Given the description of an element on the screen output the (x, y) to click on. 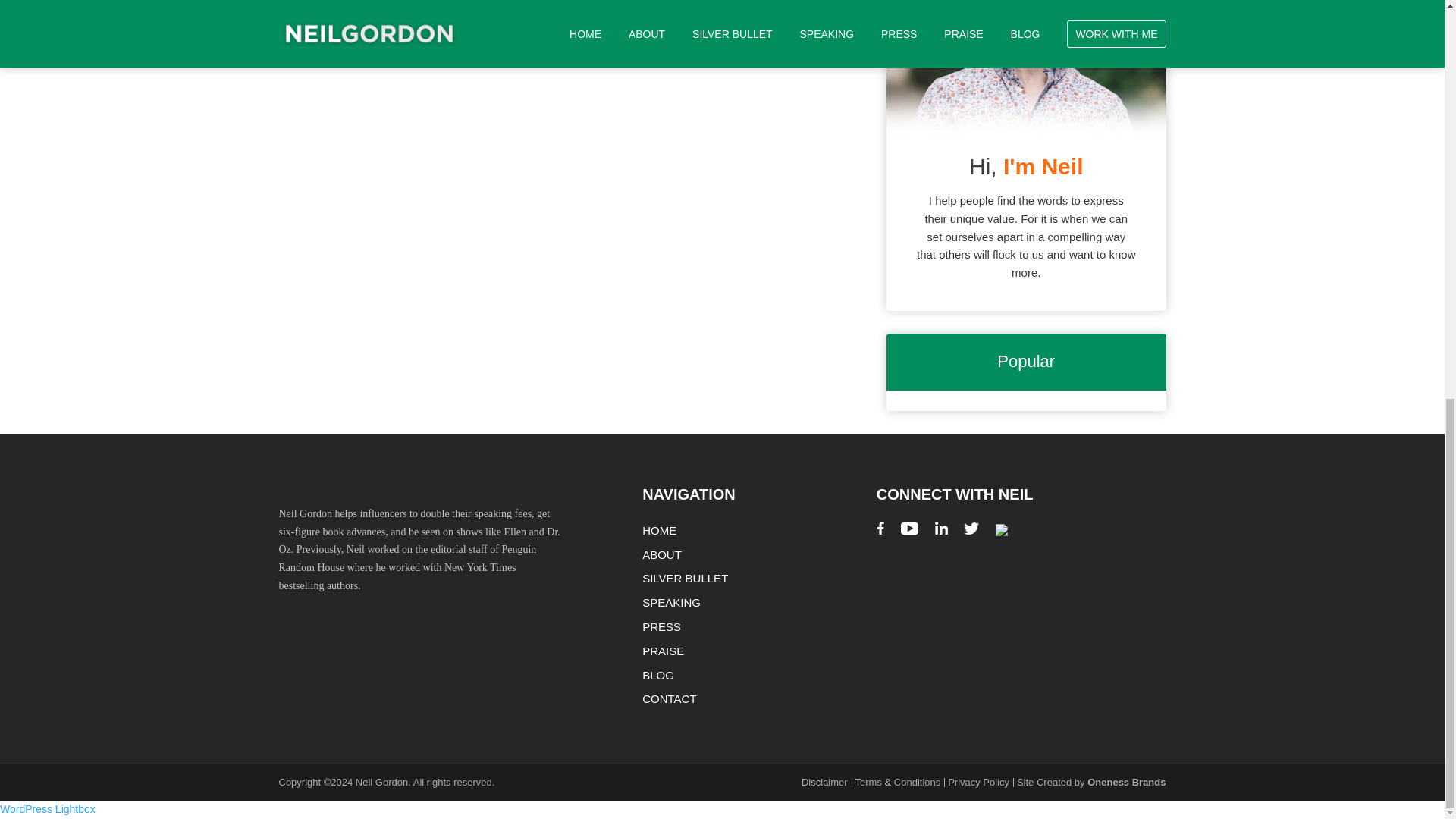
PRAISE (663, 650)
WordPress Lightbox (48, 808)
BLOG (658, 675)
Popular (1026, 362)
ABOUT (661, 554)
PRESS (661, 626)
SILVER BULLET (685, 577)
SPEAKING (671, 602)
WordPress Lightbox (48, 808)
HOME (659, 530)
Oneness Brands (1126, 781)
Privacy Policy (980, 781)
Disclaimer (826, 781)
CONTACT (668, 698)
